Given the description of an element on the screen output the (x, y) to click on. 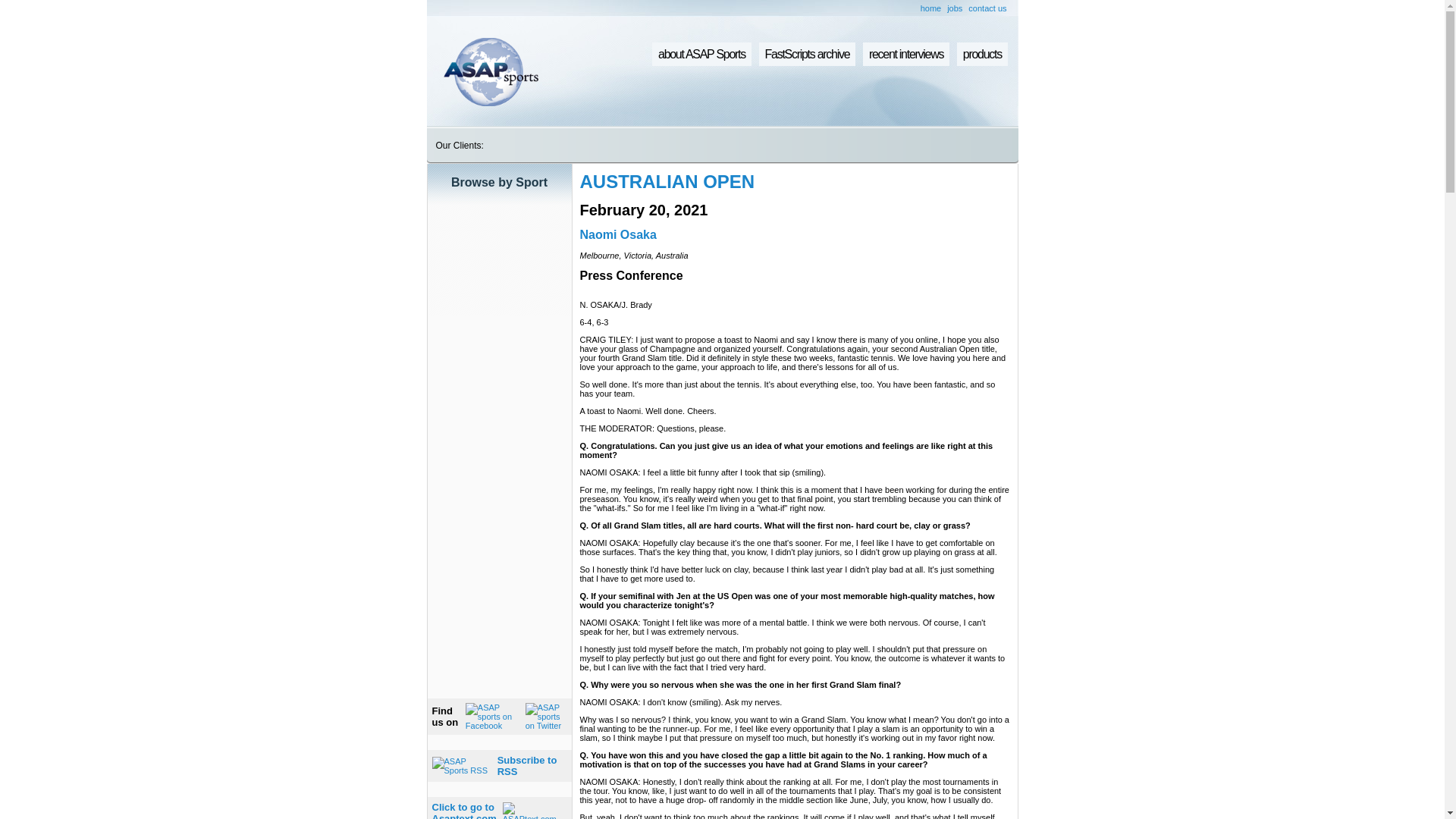
FastScripts archive (807, 54)
home (931, 8)
Subscribe to RSS (527, 765)
products (981, 54)
contact us (987, 8)
jobs (464, 810)
recent interviews (954, 8)
AUSTRALIAN OPEN (906, 54)
about ASAP Sports (666, 181)
